Given the description of an element on the screen output the (x, y) to click on. 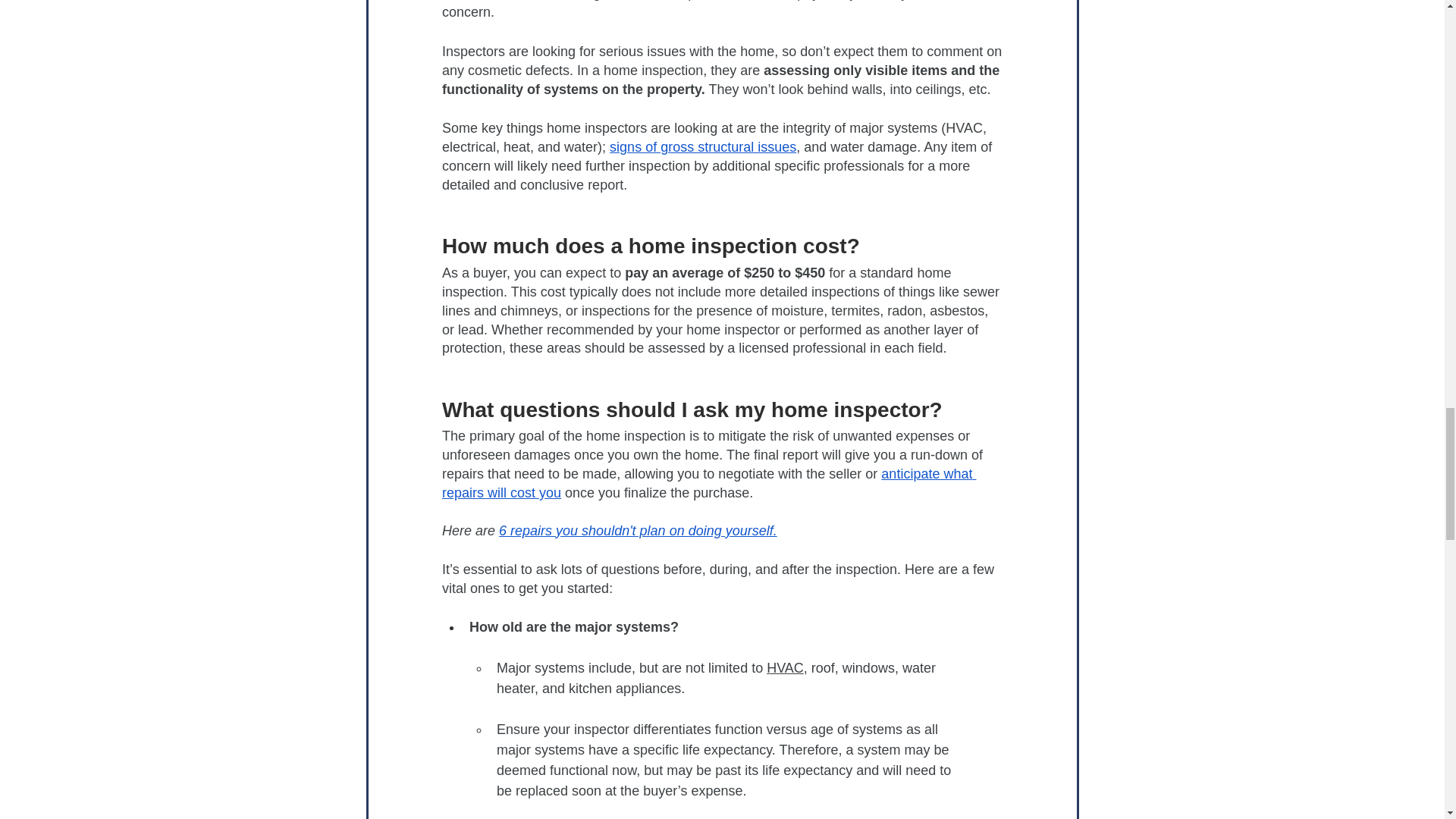
anticipate what repairs will cost you (708, 483)
signs of gross structural issues (703, 146)
6 repairs you shouldn't plan on doing yourself. (638, 530)
HVAC (785, 667)
